Given the description of an element on the screen output the (x, y) to click on. 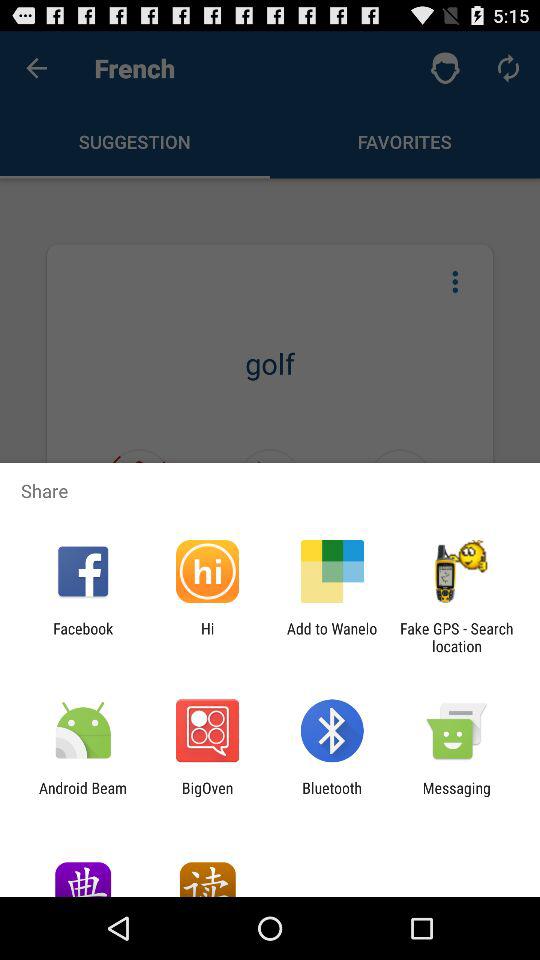
turn off icon next to android beam app (207, 796)
